Given the description of an element on the screen output the (x, y) to click on. 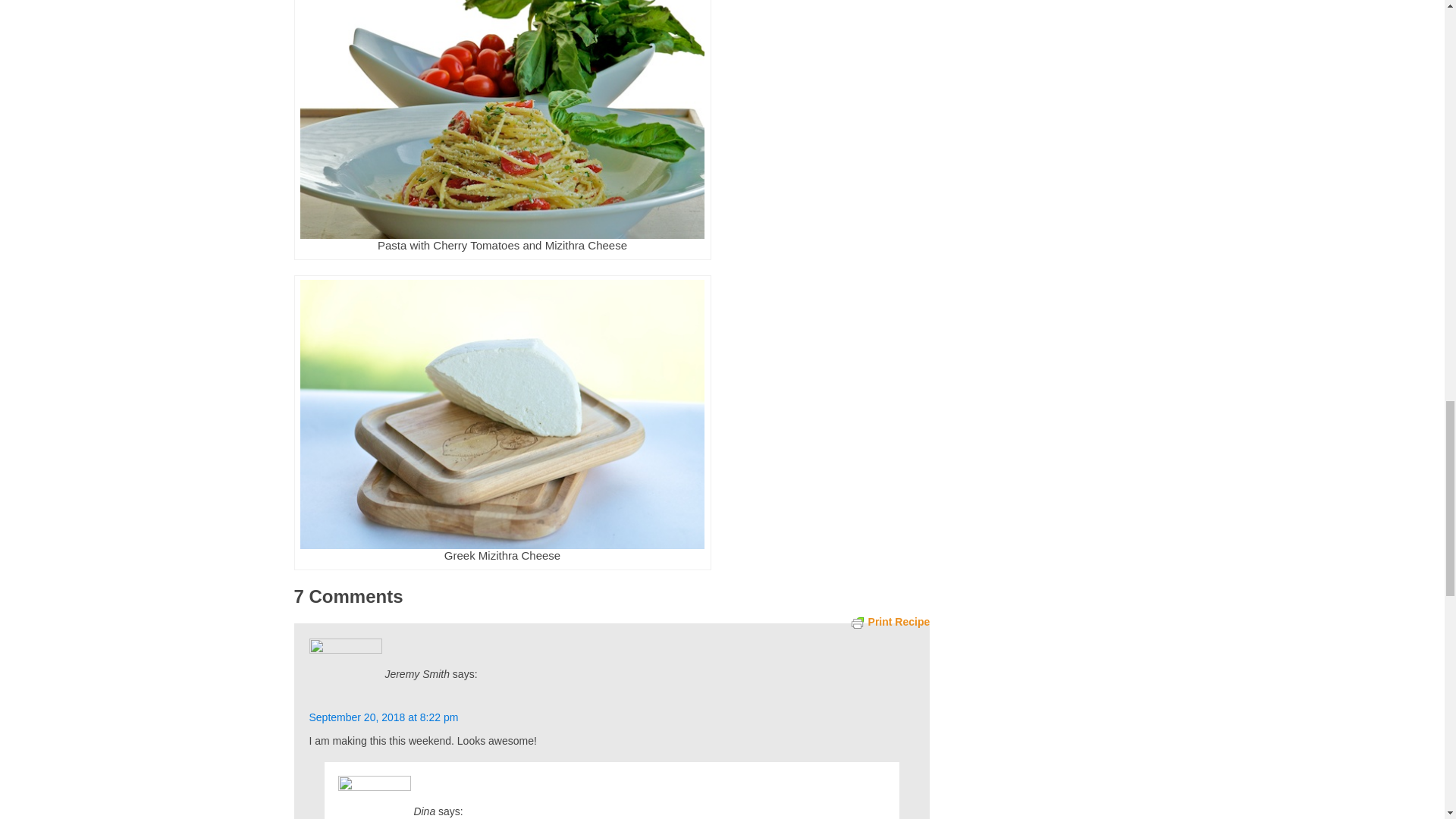
Greek Mizithra Cheese (501, 414)
Pasta with Cherry Tomatoes and Mizithra Cheese (501, 119)
